Given the description of an element on the screen output the (x, y) to click on. 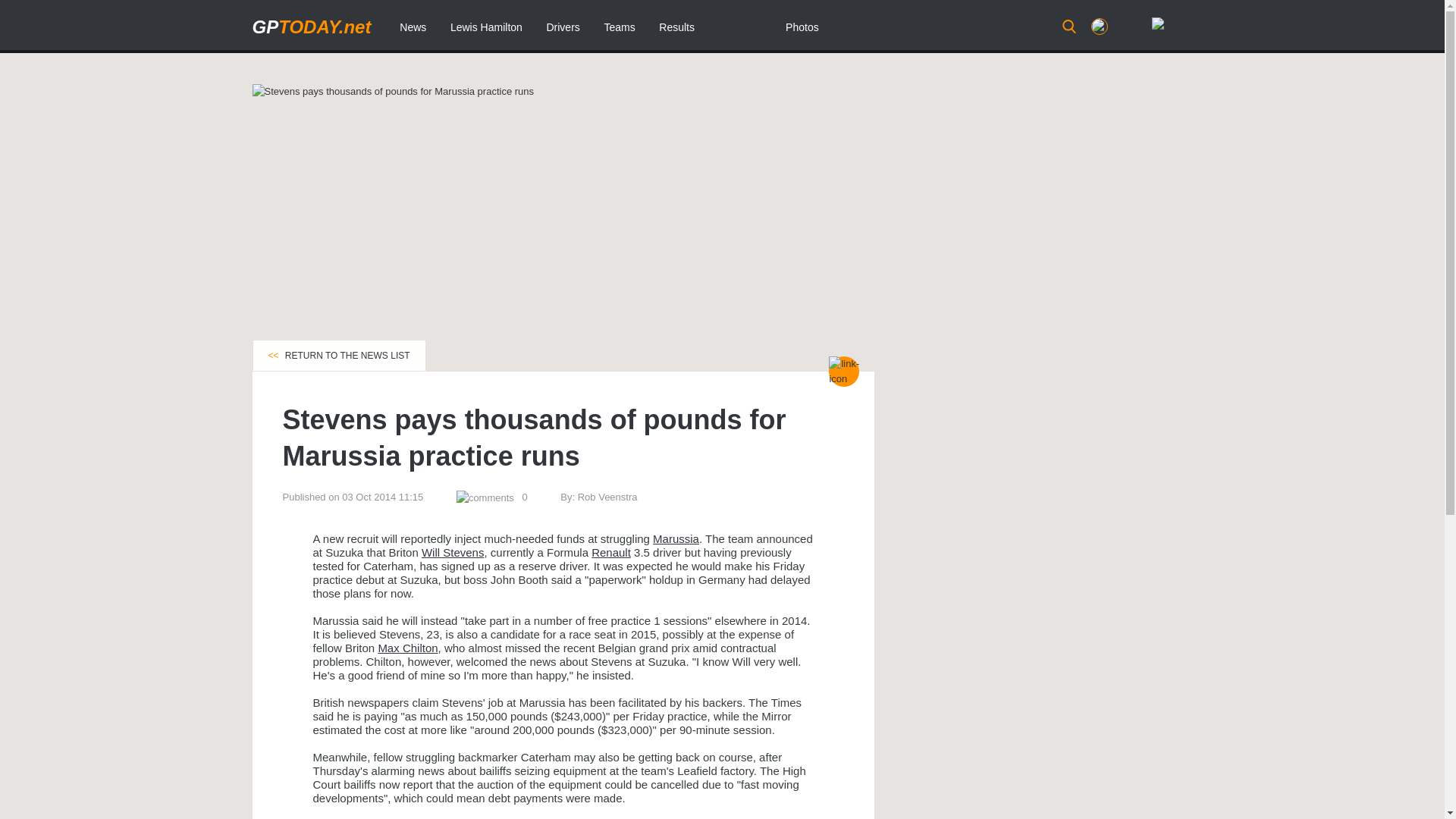
Drivers (562, 26)
GPTODAY.net (311, 26)
Photos (801, 26)
Lewis Hamilton (485, 26)
Results (675, 26)
News (412, 26)
Stevens pays thousands of pounds for Marussia practice runs (392, 91)
Teams (618, 26)
Calendar (740, 26)
